Given the description of an element on the screen output the (x, y) to click on. 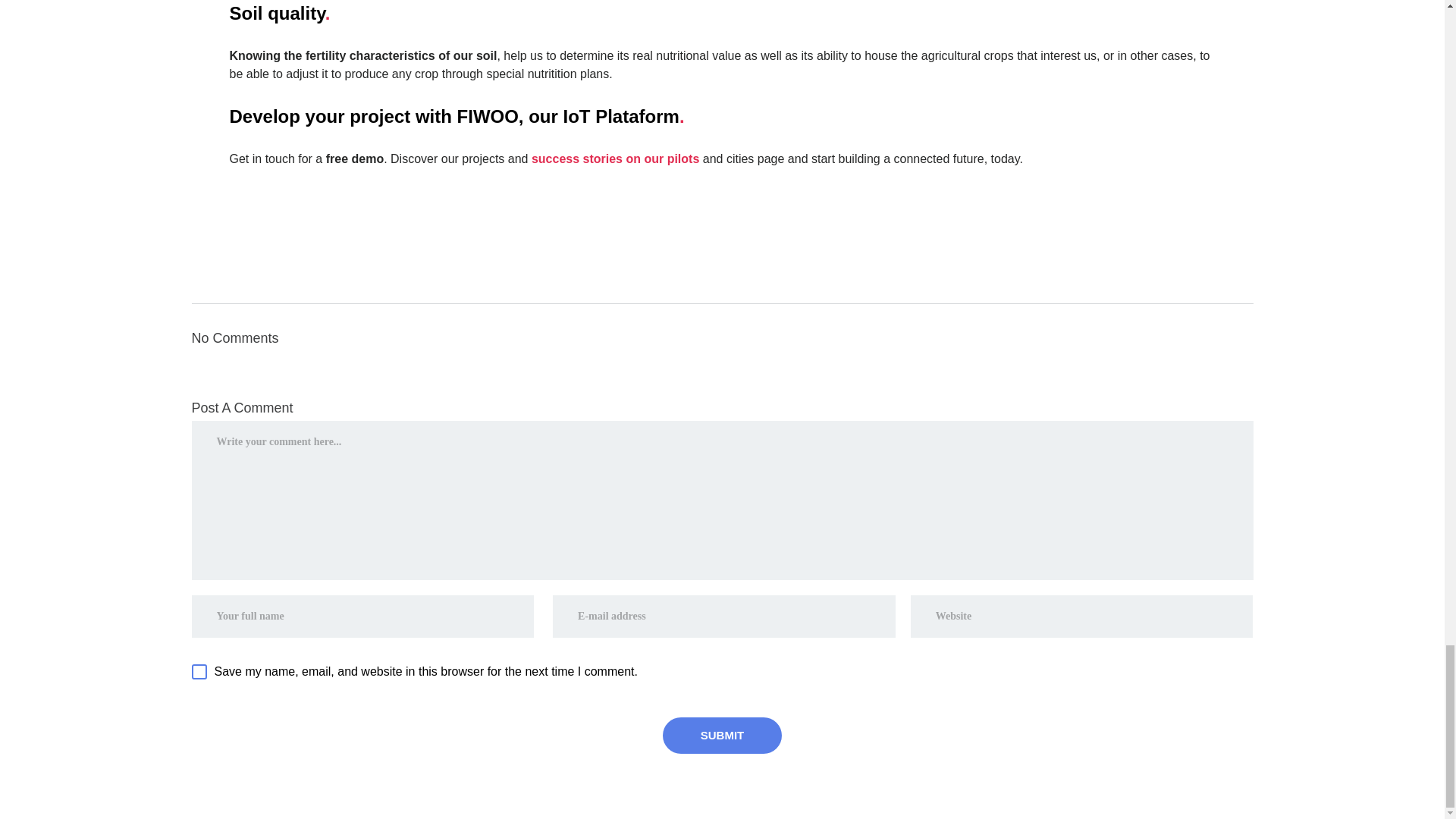
Submit (722, 735)
